Given the description of an element on the screen output the (x, y) to click on. 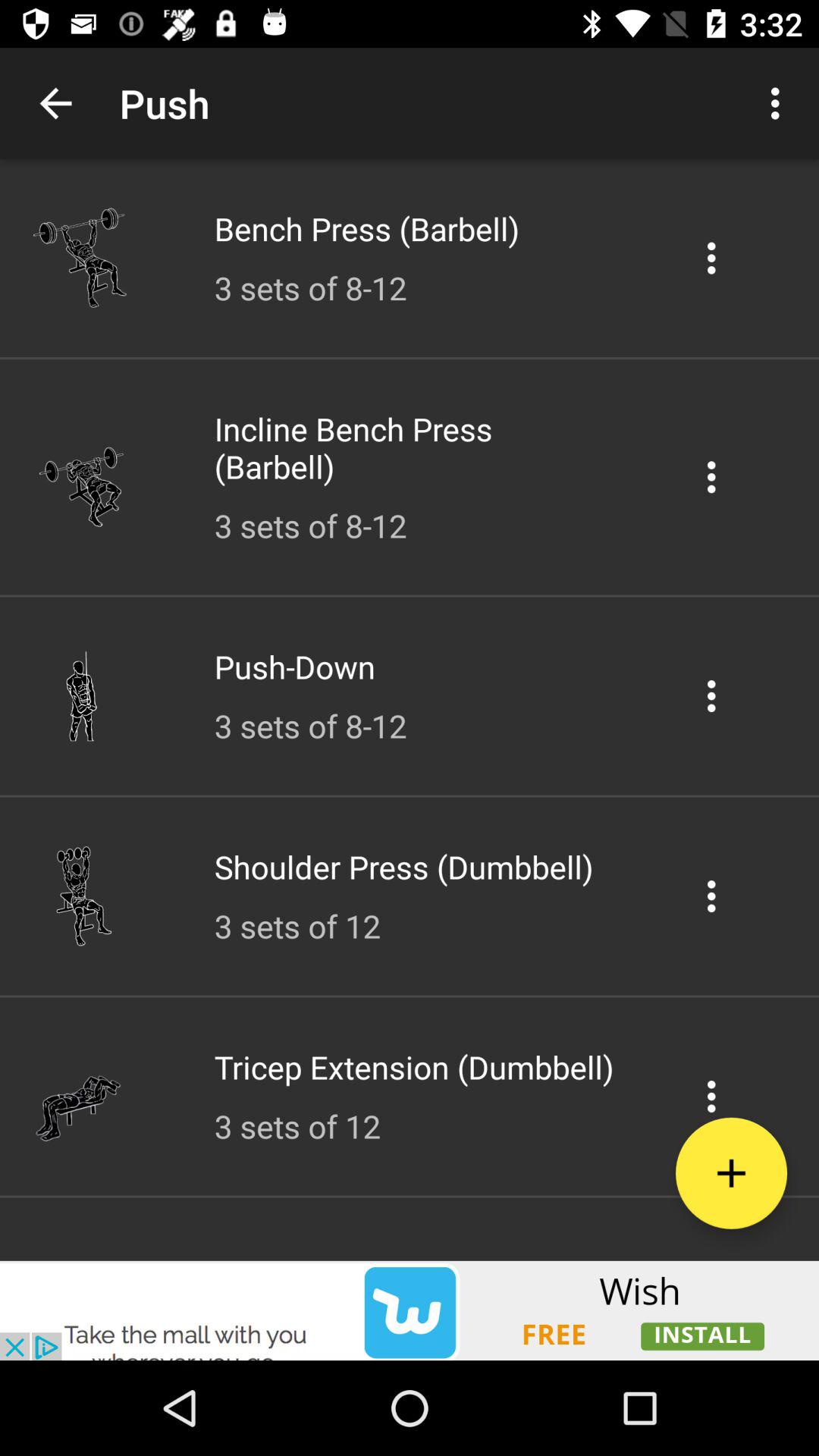
add the new file (731, 1173)
